Given the description of an element on the screen output the (x, y) to click on. 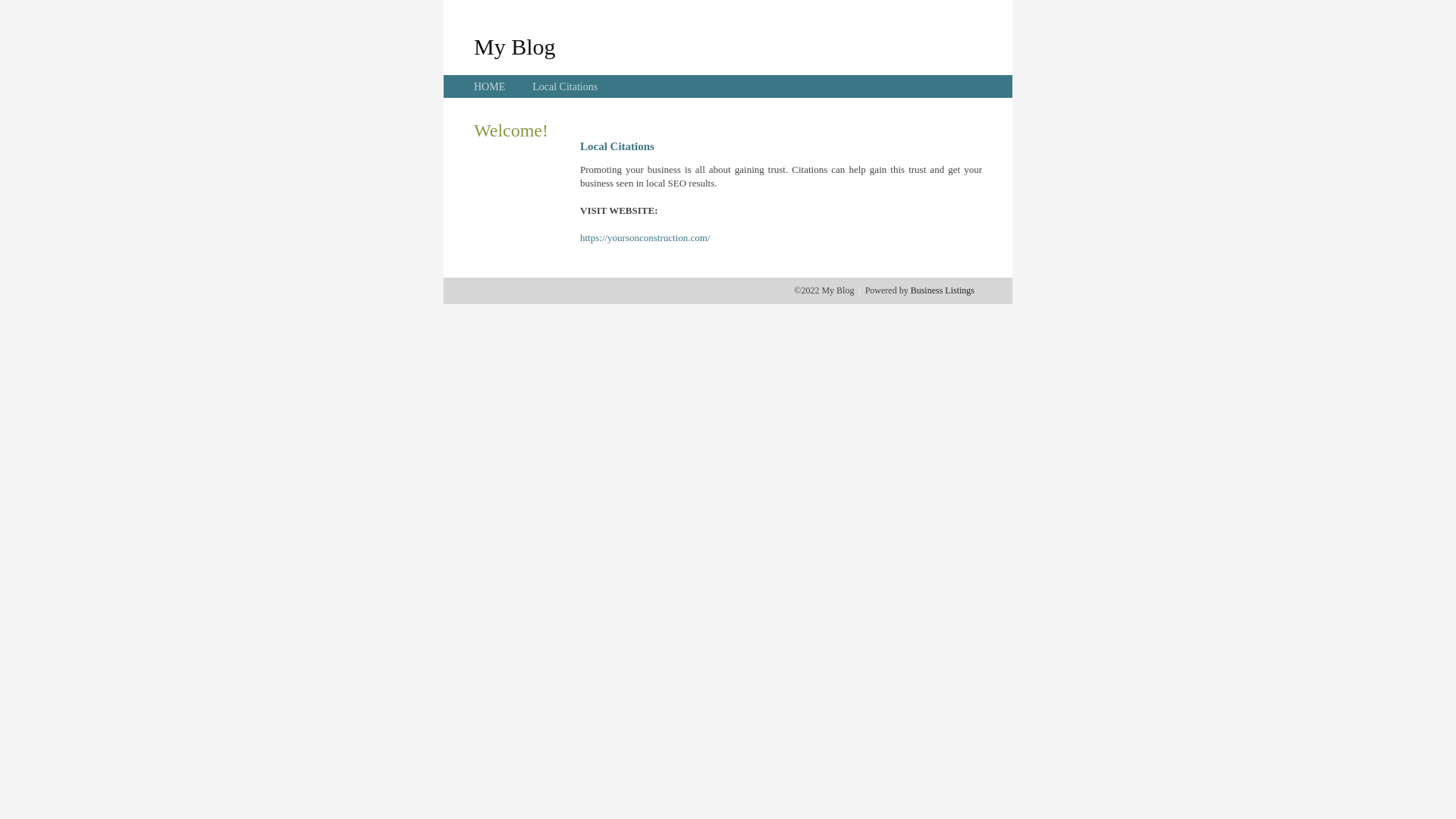
Business Listings Element type: text (942, 290)
My Blog Element type: text (514, 46)
https://yoursonconstruction.com/ Element type: text (645, 237)
Local Citations Element type: text (564, 86)
HOME Element type: text (489, 86)
